Given the description of an element on the screen output the (x, y) to click on. 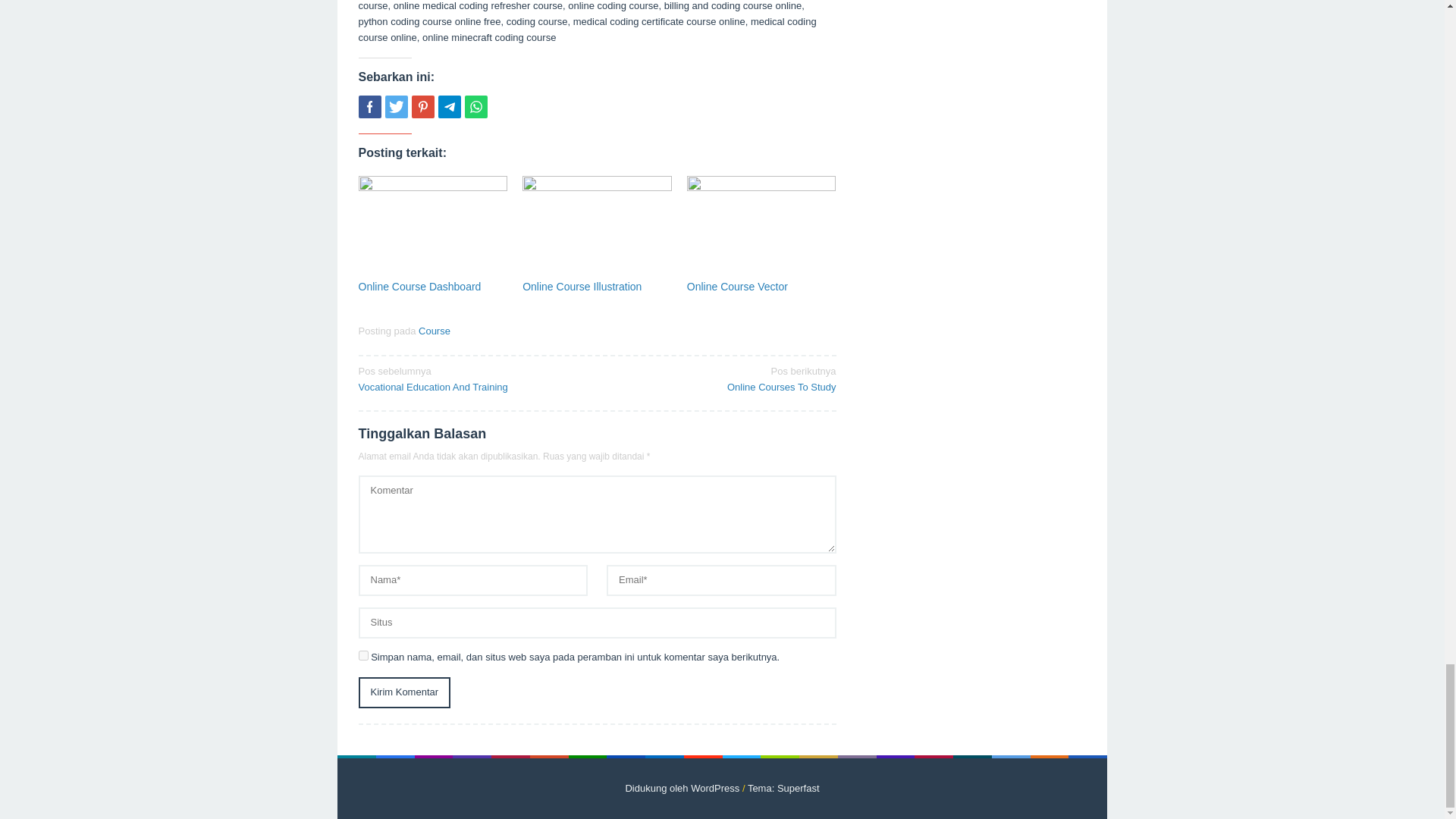
yes (363, 655)
Online Course Dashboard (419, 286)
Kirim Komentar (403, 692)
